Given the description of an element on the screen output the (x, y) to click on. 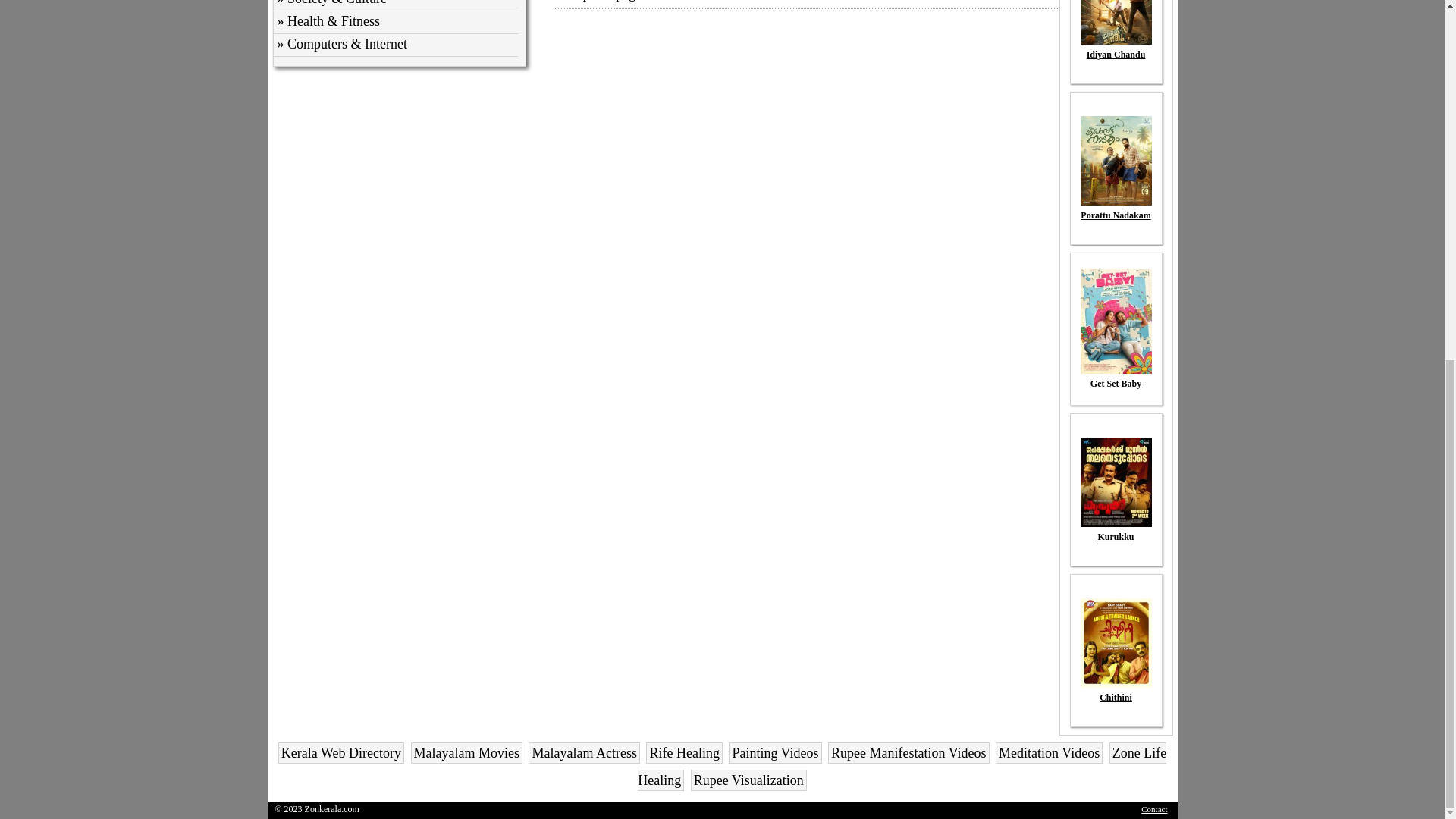
Advertisement (796, 122)
